Given the description of an element on the screen output the (x, y) to click on. 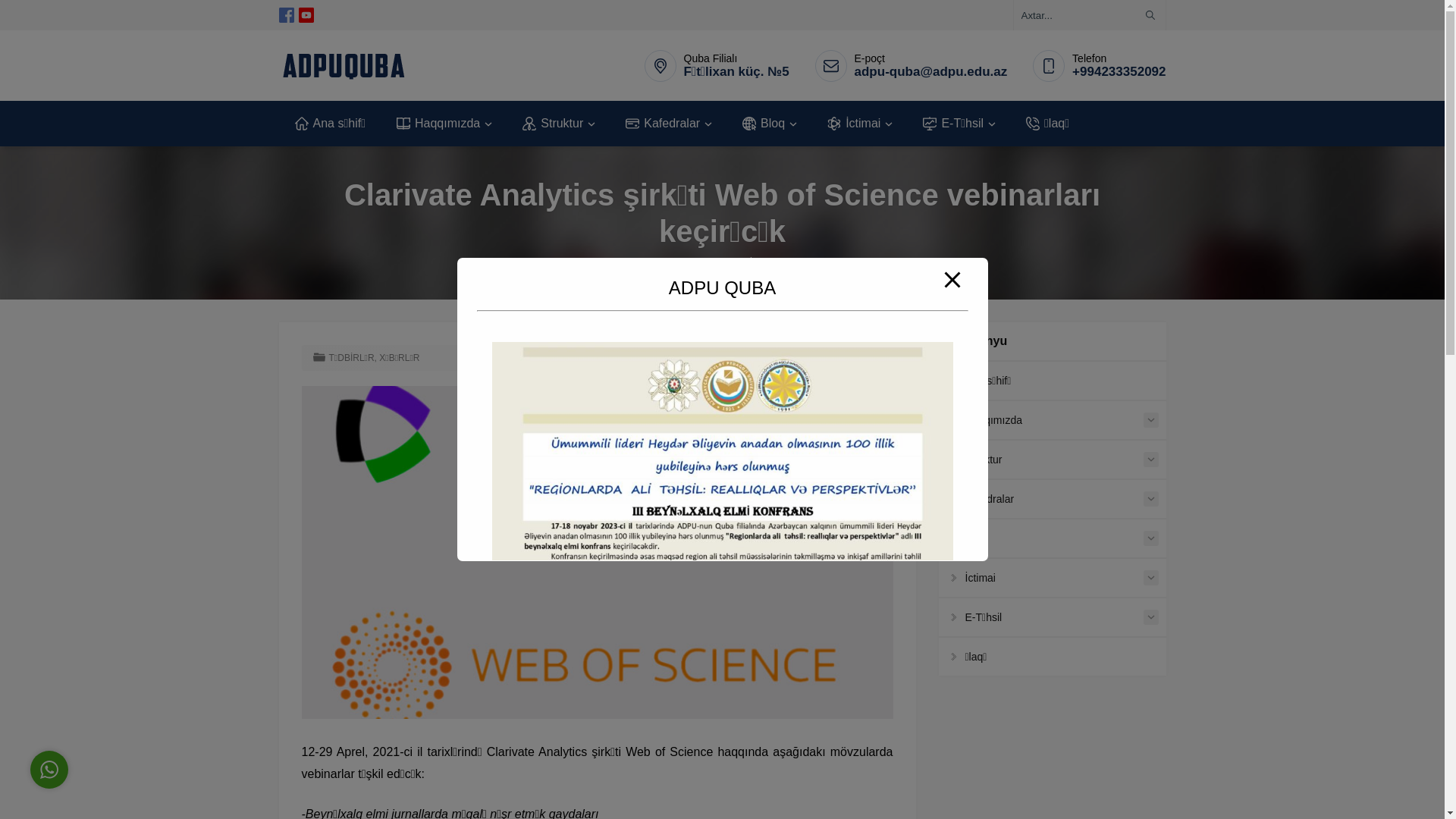
Kafedralar Element type: text (667, 123)
+994233352092 Element type: text (1118, 70)
adpu-quba@adpu.edu.az Element type: text (930, 70)
Bloq Element type: text (768, 123)
Struktur Element type: text (557, 123)
Struktur Element type: text (1052, 458)
Bloq Element type: text (1052, 537)
Kafedralar Element type: text (1052, 497)
